Given the description of an element on the screen output the (x, y) to click on. 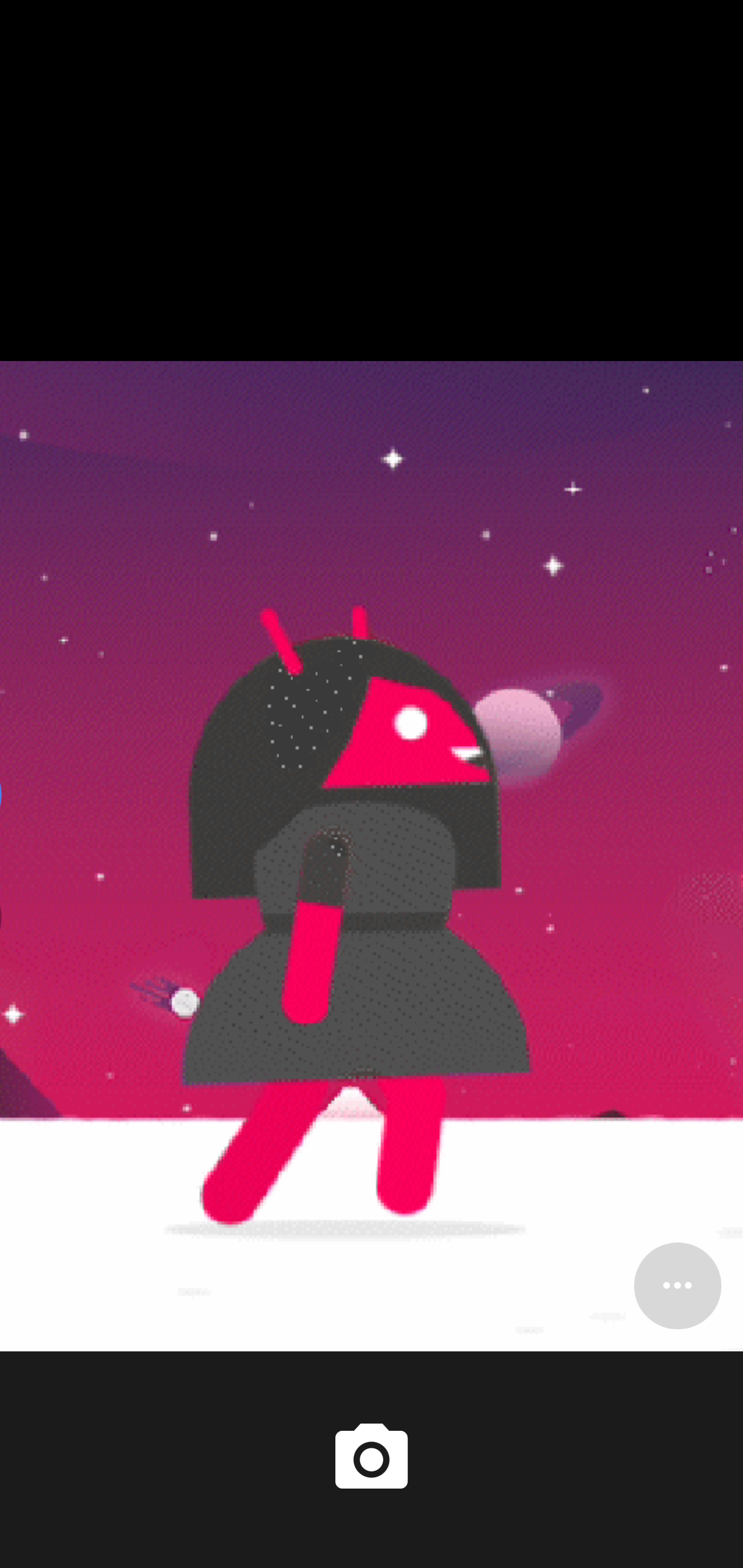
Options (677, 1285)
Shutter (371, 1459)
